Given the description of an element on the screen output the (x, y) to click on. 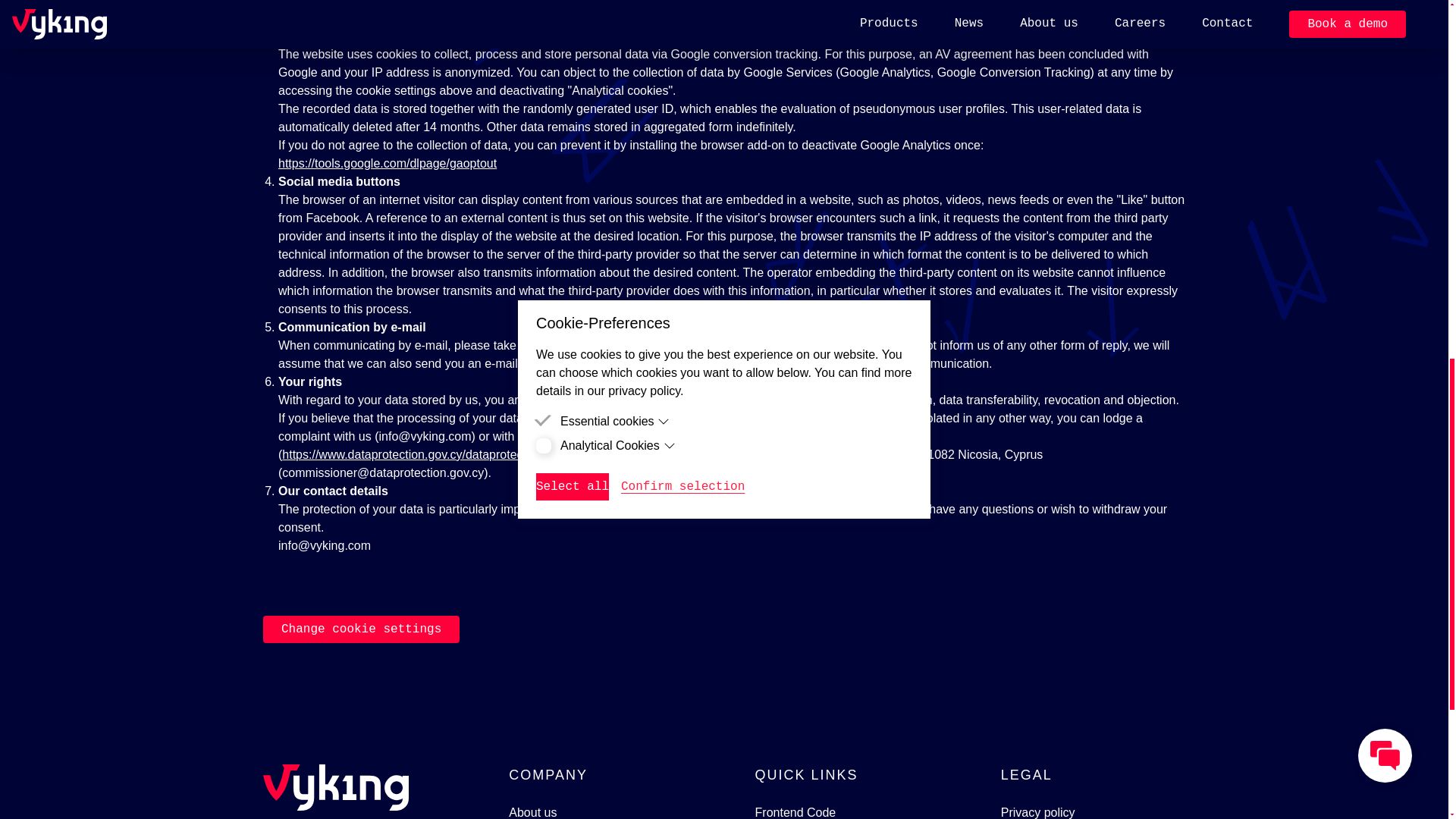
About us (532, 811)
Frontend Code (795, 811)
Change cookie settings (361, 628)
Privacy policy (1038, 811)
